Given the description of an element on the screen output the (x, y) to click on. 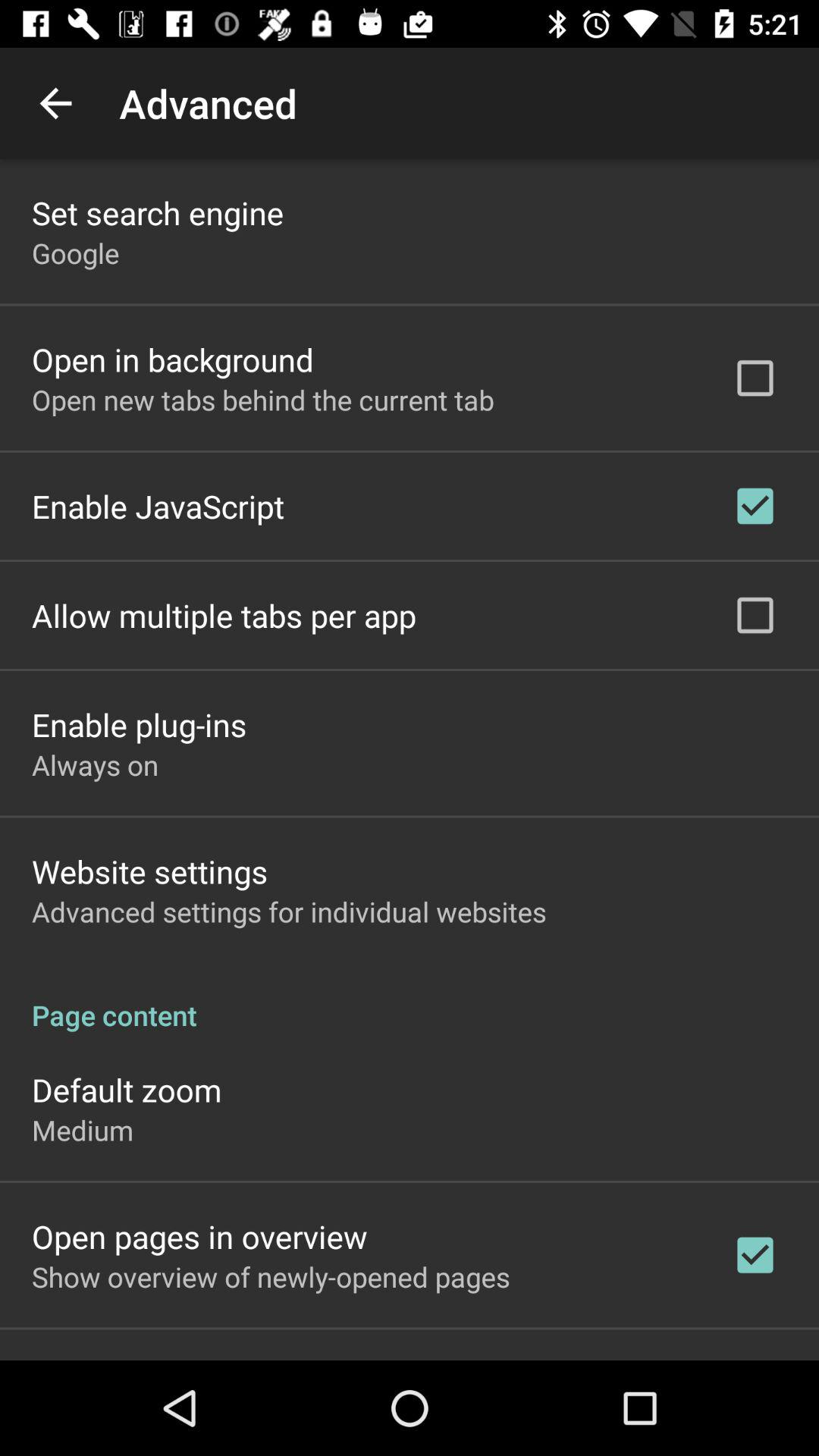
tap the icon above the set search engine app (55, 103)
